Given the description of an element on the screen output the (x, y) to click on. 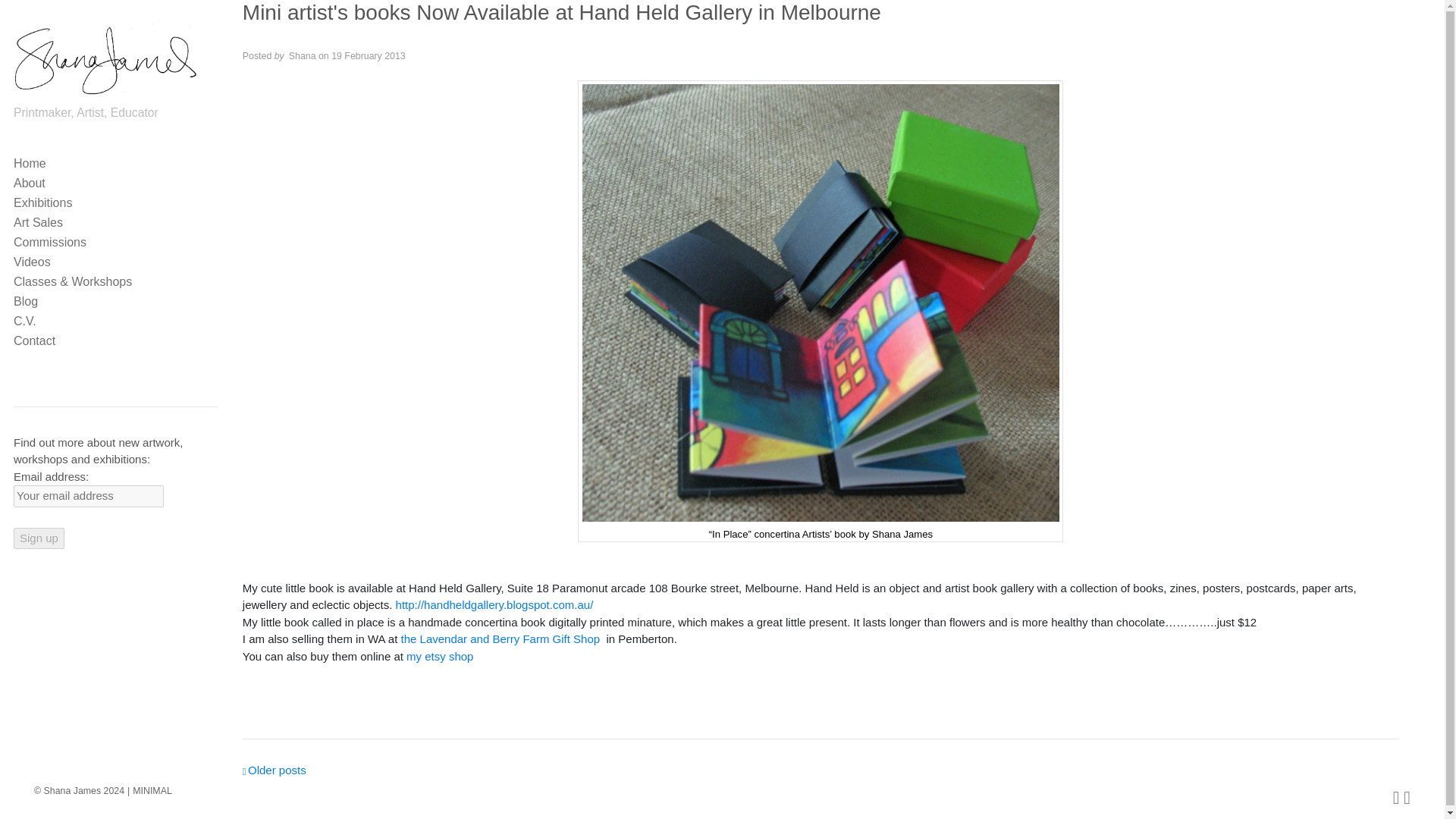
Exhibitions (114, 203)
Shana (301, 55)
Art Sales (114, 223)
Older posts (274, 769)
Videos (114, 262)
Sign up (38, 538)
Blog (114, 302)
Shana James shares processes and stories (114, 302)
Commissions (114, 243)
